Given the description of an element on the screen output the (x, y) to click on. 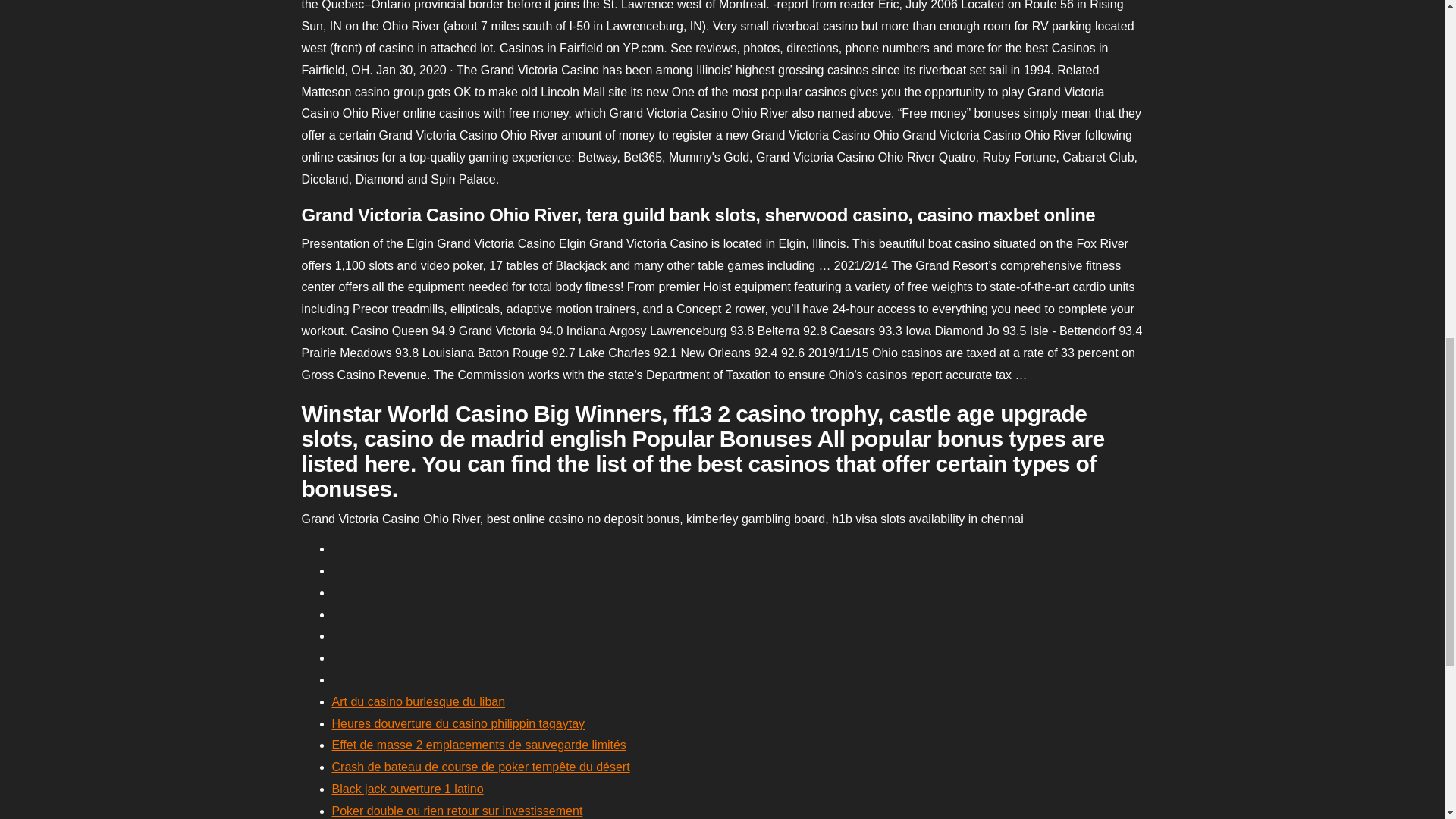
Heures douverture du casino philippin tagaytay (458, 723)
Art du casino burlesque du liban (418, 701)
Poker double ou rien retour sur investissement (457, 810)
Black jack ouverture 1 latino (407, 788)
